Given the description of an element on the screen output the (x, y) to click on. 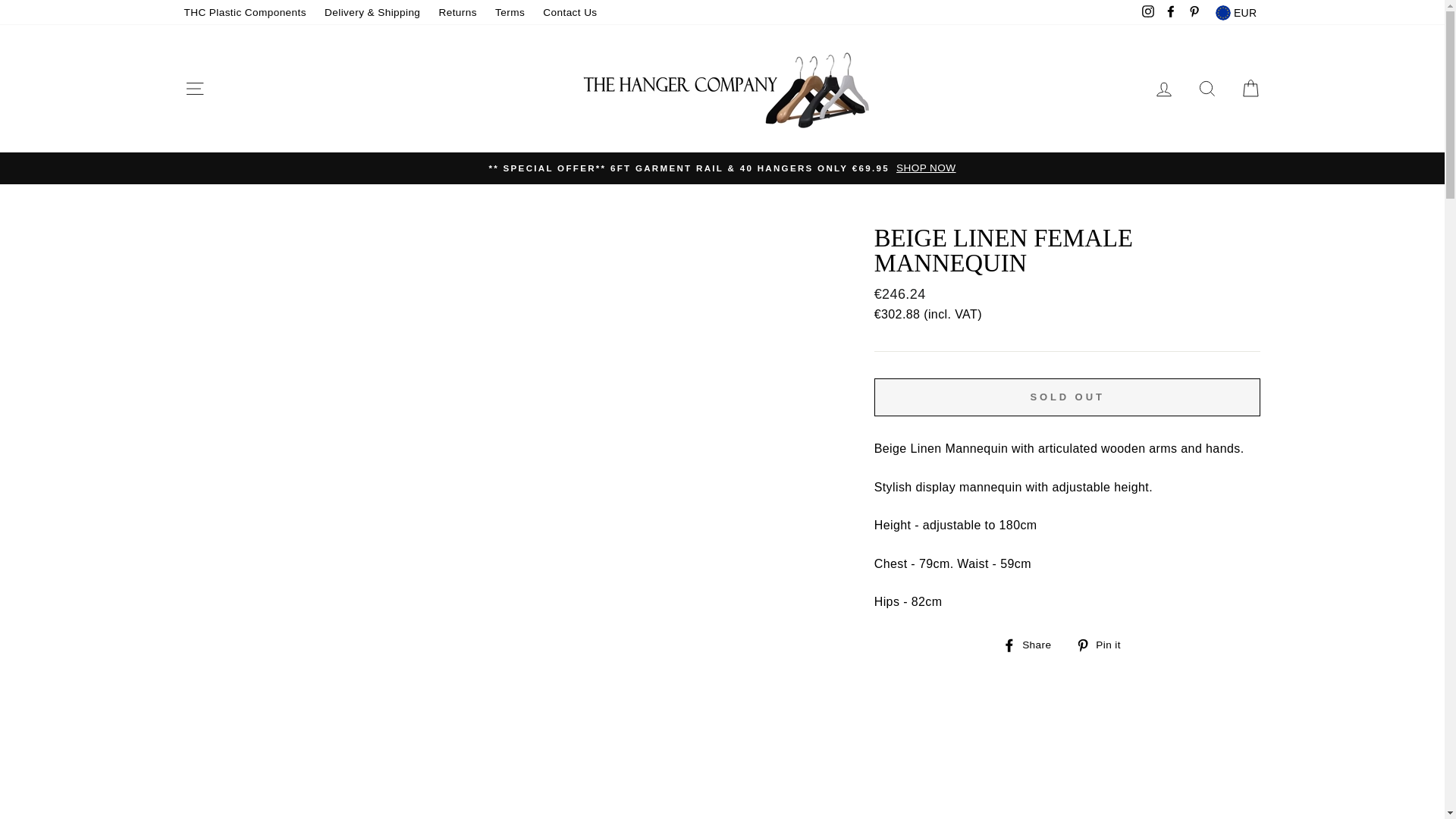
Returns (457, 12)
CART (1249, 88)
SITE NAVIGATION (194, 88)
EUR (1236, 12)
THC Plastic Components (244, 12)
Contact Us (569, 12)
Pin on Pinterest (1103, 644)
SEARCH (1207, 88)
LOG IN (1163, 88)
